Given the description of an element on the screen output the (x, y) to click on. 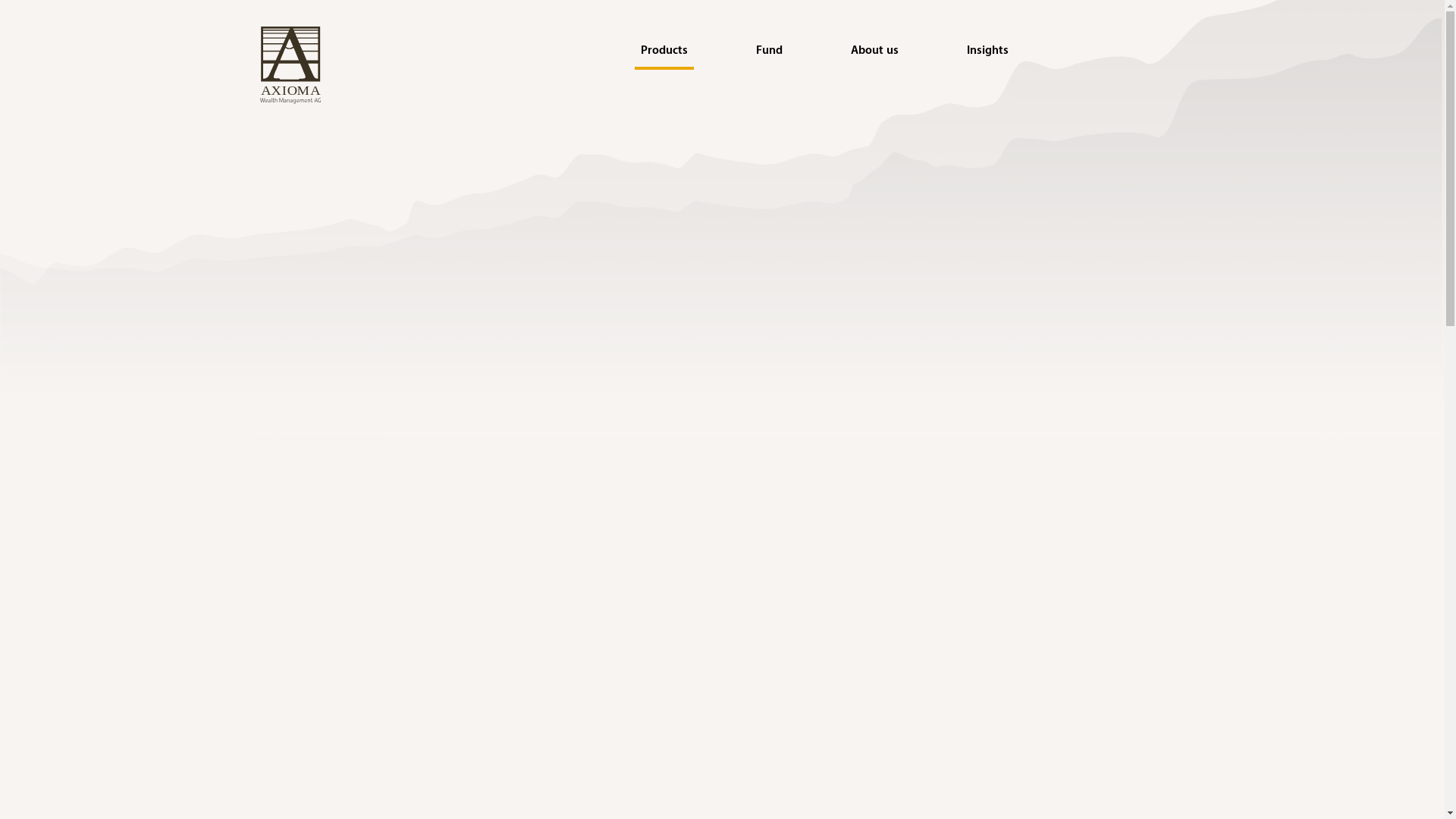
Fund Element type: text (768, 49)
Insights Element type: text (986, 49)
A
X
I
O
M
A Element type: text (289, 66)
Products Element type: text (663, 49)
About us Element type: text (874, 49)
